Given the description of an element on the screen output the (x, y) to click on. 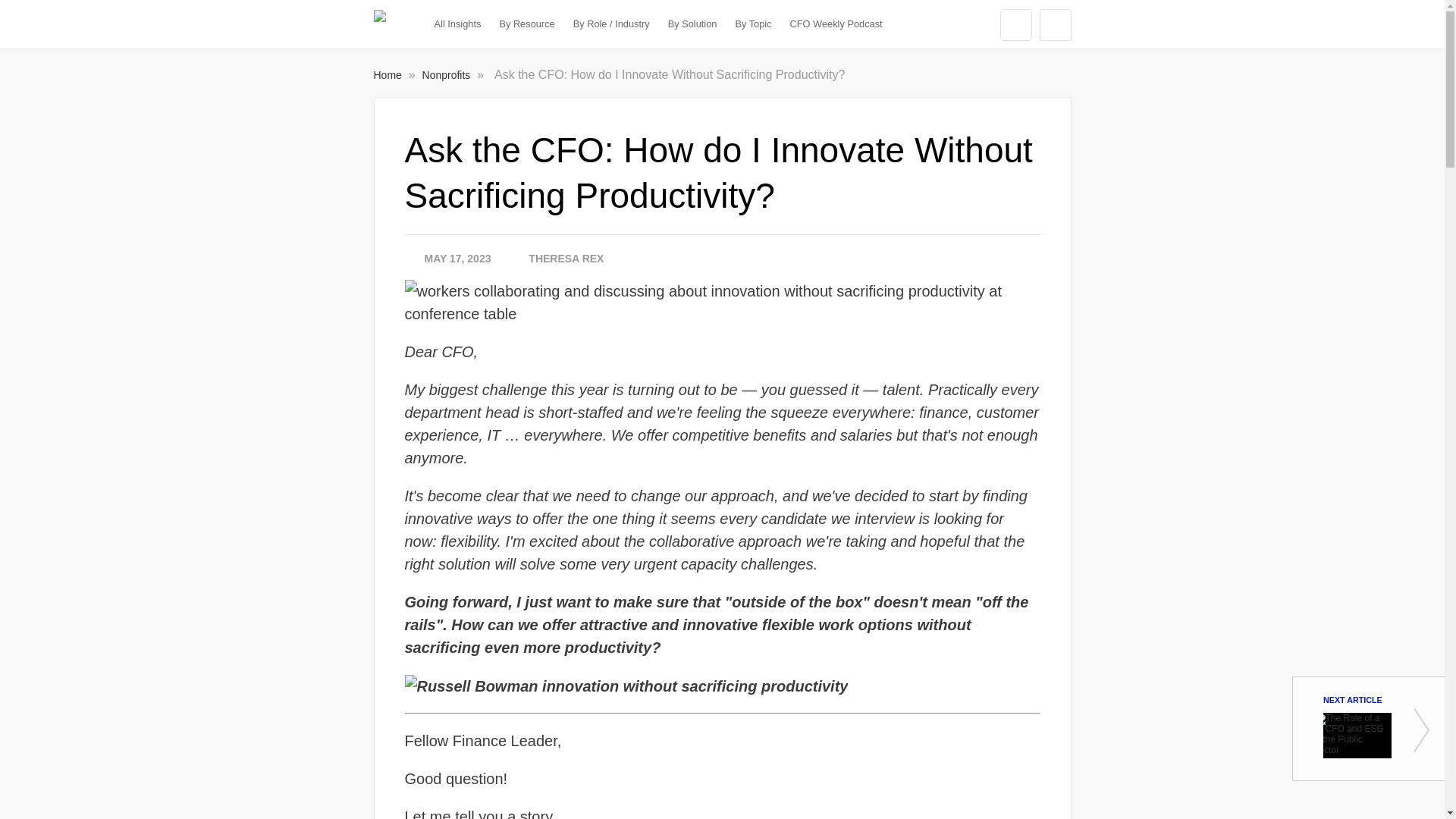
By Topic (752, 24)
All Insights (457, 24)
Home (388, 74)
By Solution (693, 24)
CFO Weekly Podcast (837, 24)
By Resource (527, 24)
Personiv (378, 24)
